Given the description of an element on the screen output the (x, y) to click on. 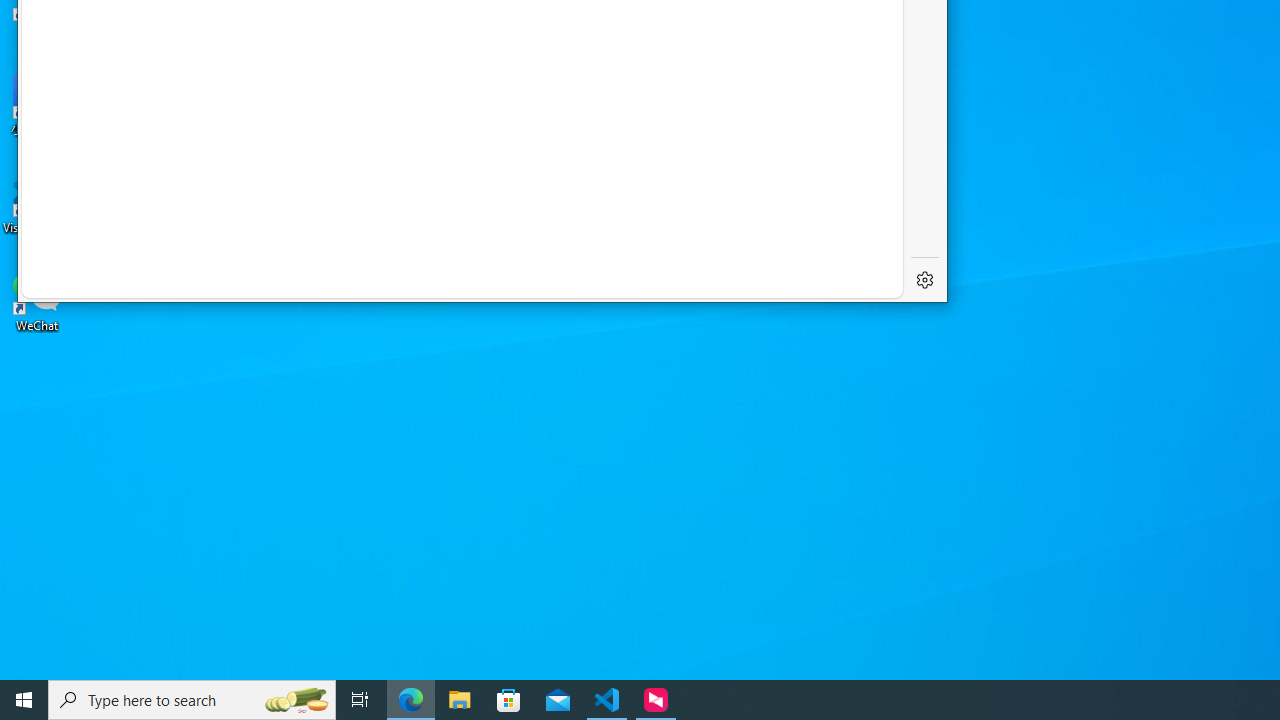
Start (24, 699)
Search highlights icon opens search home window (295, 699)
Microsoft Store (509, 699)
Microsoft Edge - 1 running window (411, 699)
Type here to search (191, 699)
File Explorer (460, 699)
Task View (359, 699)
Visual Studio Code - 1 running window (607, 699)
